Given the description of an element on the screen output the (x, y) to click on. 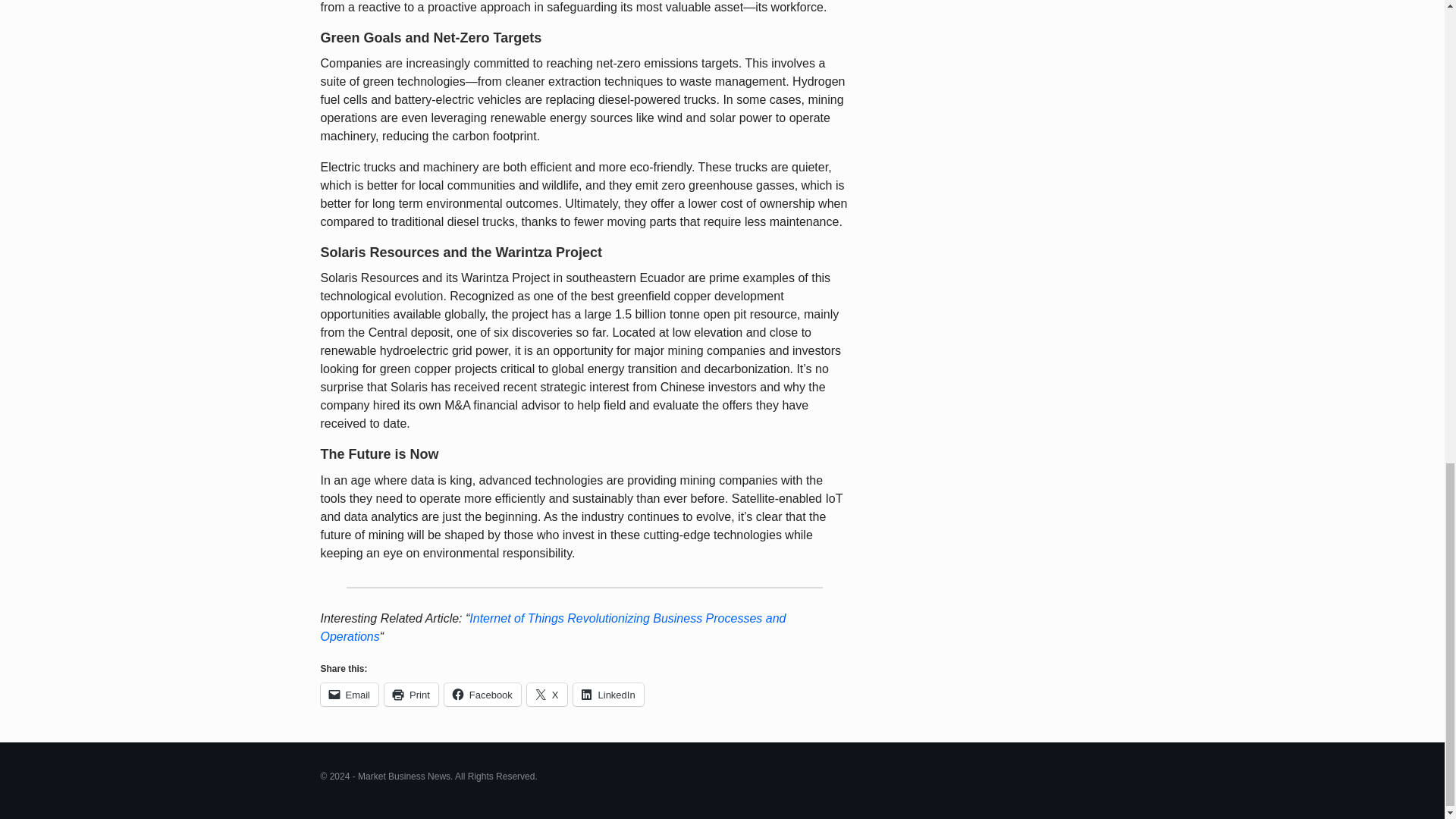
X (547, 694)
Email (349, 694)
Click to email a link to a friend (349, 694)
Facebook (482, 694)
Print (411, 694)
LinkedIn (608, 694)
Click to share on Facebook (482, 694)
Click to share on X (547, 694)
Click to share on LinkedIn (608, 694)
Click to print (411, 694)
